Given the description of an element on the screen output the (x, y) to click on. 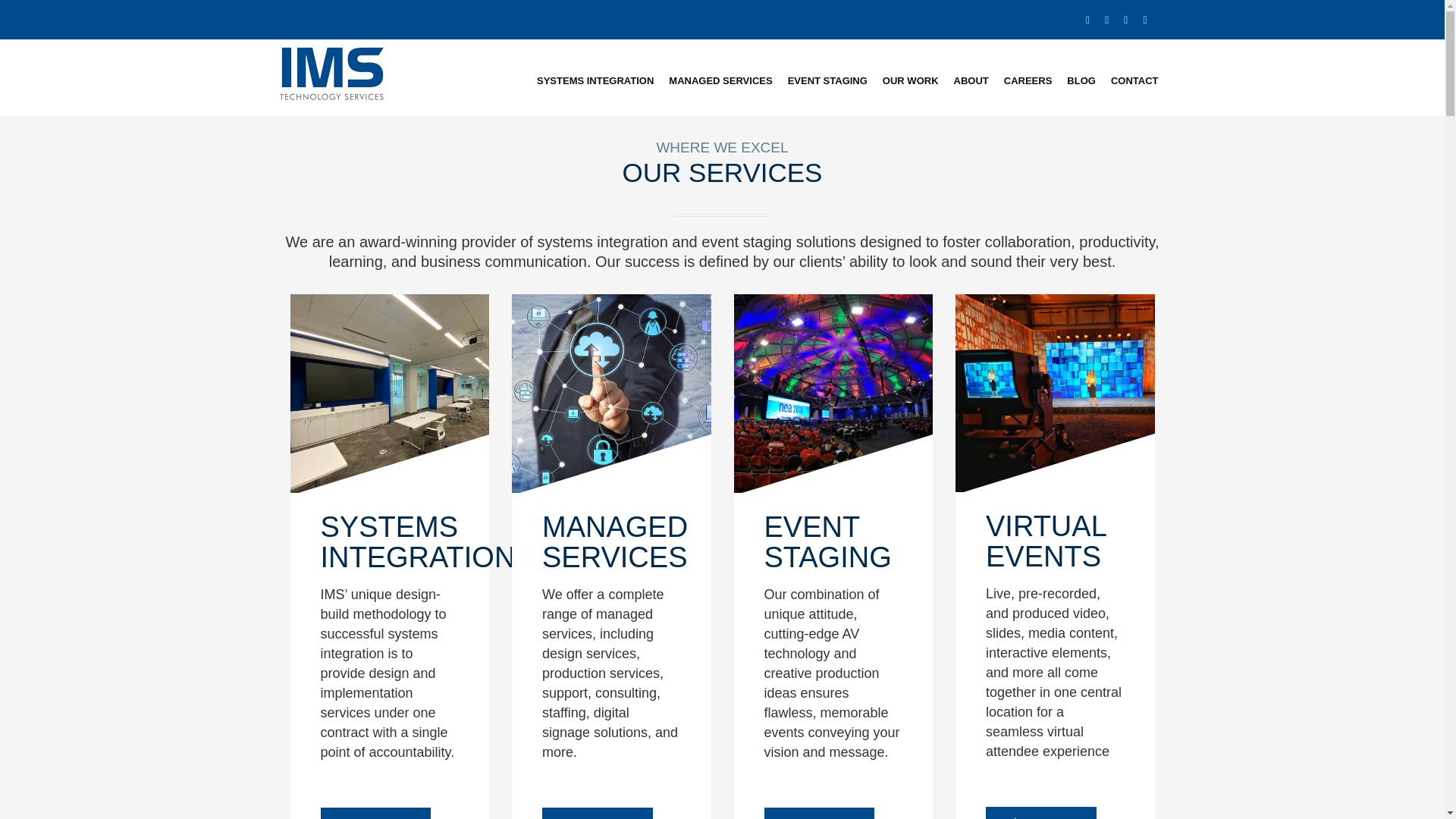
CAREERS (1027, 80)
Learn more (596, 813)
Learn more (375, 813)
SYSTEMS INTEGRATION (595, 80)
EVENT STAGING (827, 80)
Learn more (819, 813)
OUR WORK (910, 80)
CONTACT (1134, 80)
MANAGED SERVICES (719, 80)
Learn more (1040, 812)
IMS Technology Services (332, 72)
